Given the description of an element on the screen output the (x, y) to click on. 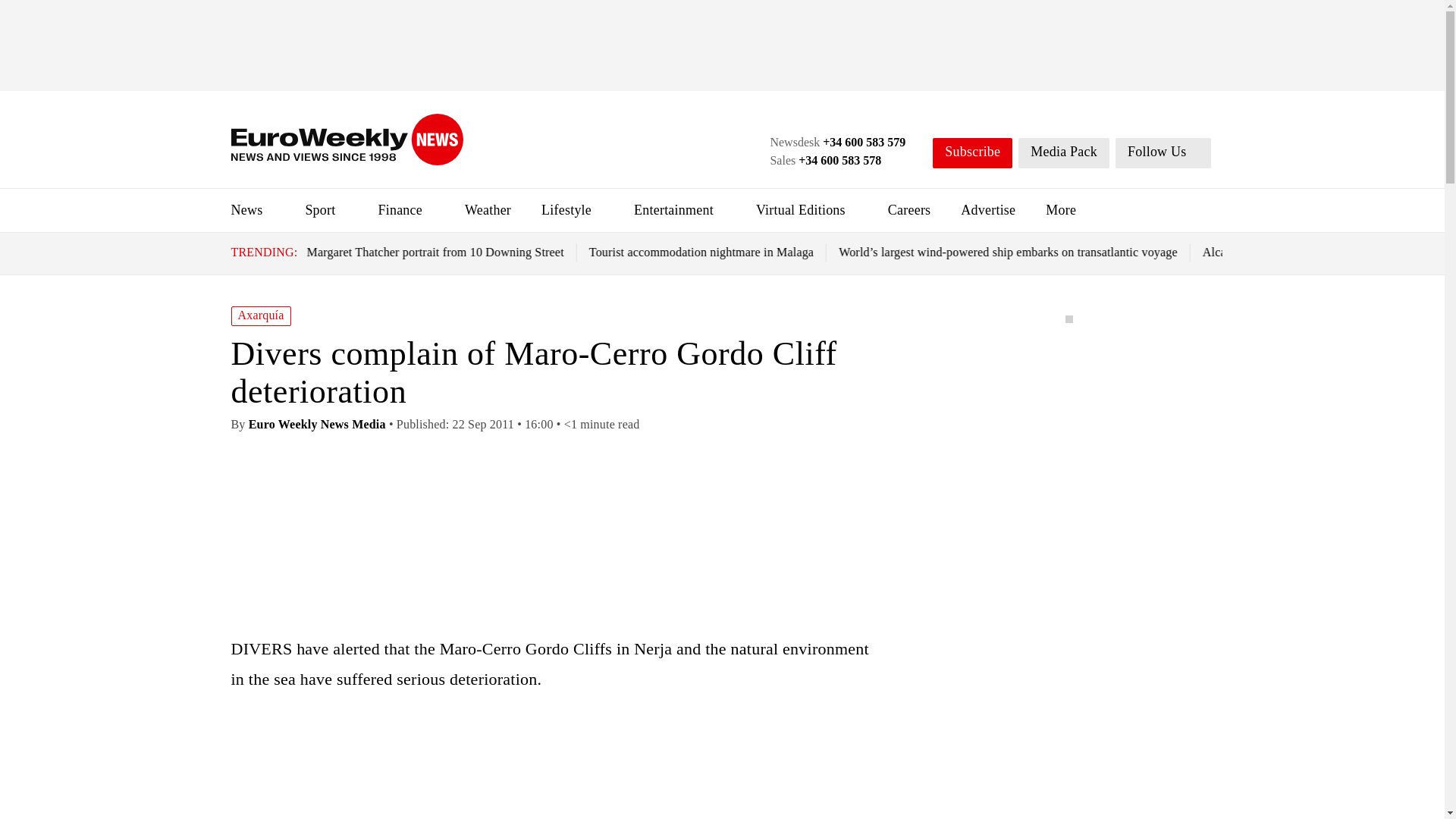
Media Pack (1063, 153)
News (246, 209)
Follow Us (1163, 153)
Subscribe (972, 153)
